Given the description of an element on the screen output the (x, y) to click on. 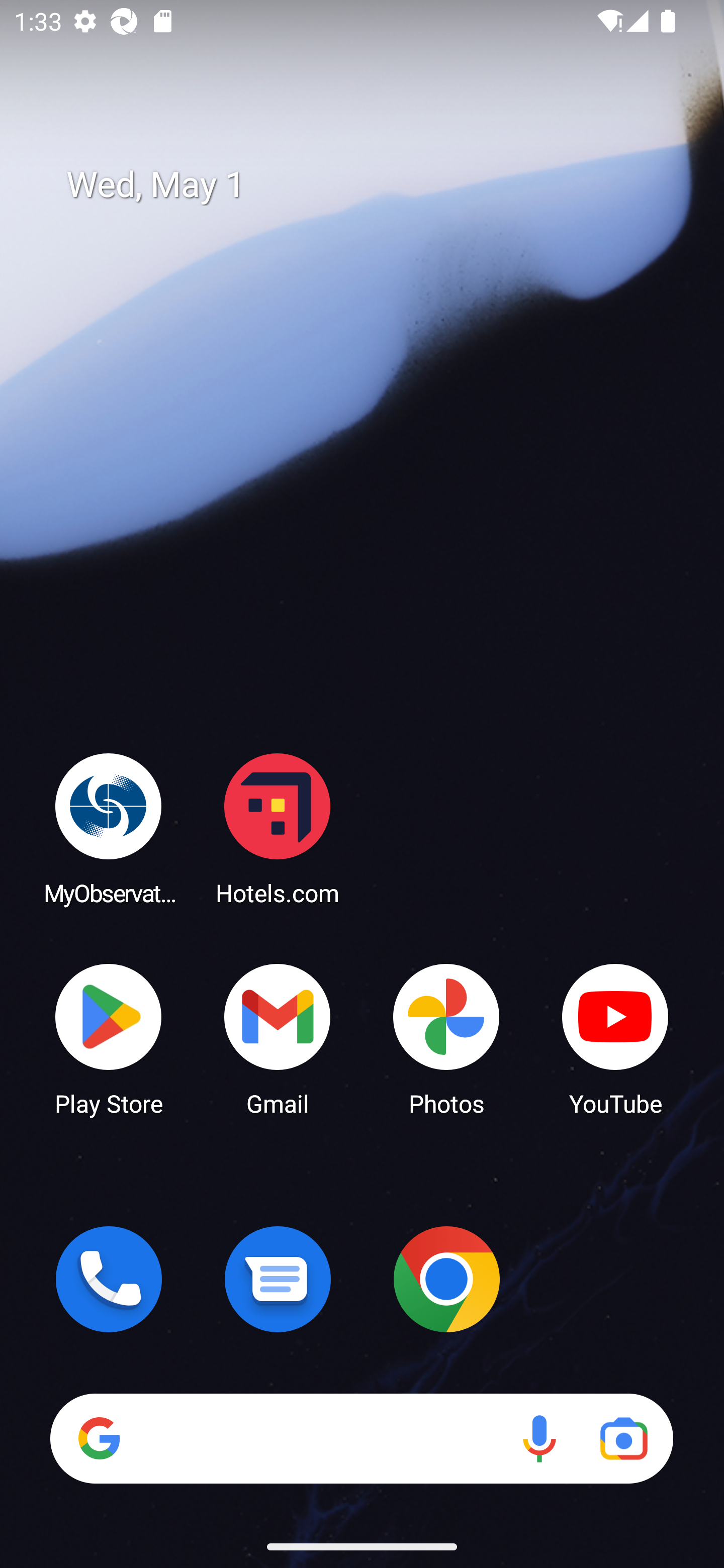
Wed, May 1 (375, 184)
MyObservatory (108, 828)
Hotels.com (277, 828)
Play Store (108, 1038)
Gmail (277, 1038)
Photos (445, 1038)
YouTube (615, 1038)
Phone (108, 1279)
Messages (277, 1279)
Chrome (446, 1279)
Search Voice search Google Lens (361, 1438)
Voice search (539, 1438)
Google Lens (623, 1438)
